Given the description of an element on the screen output the (x, y) to click on. 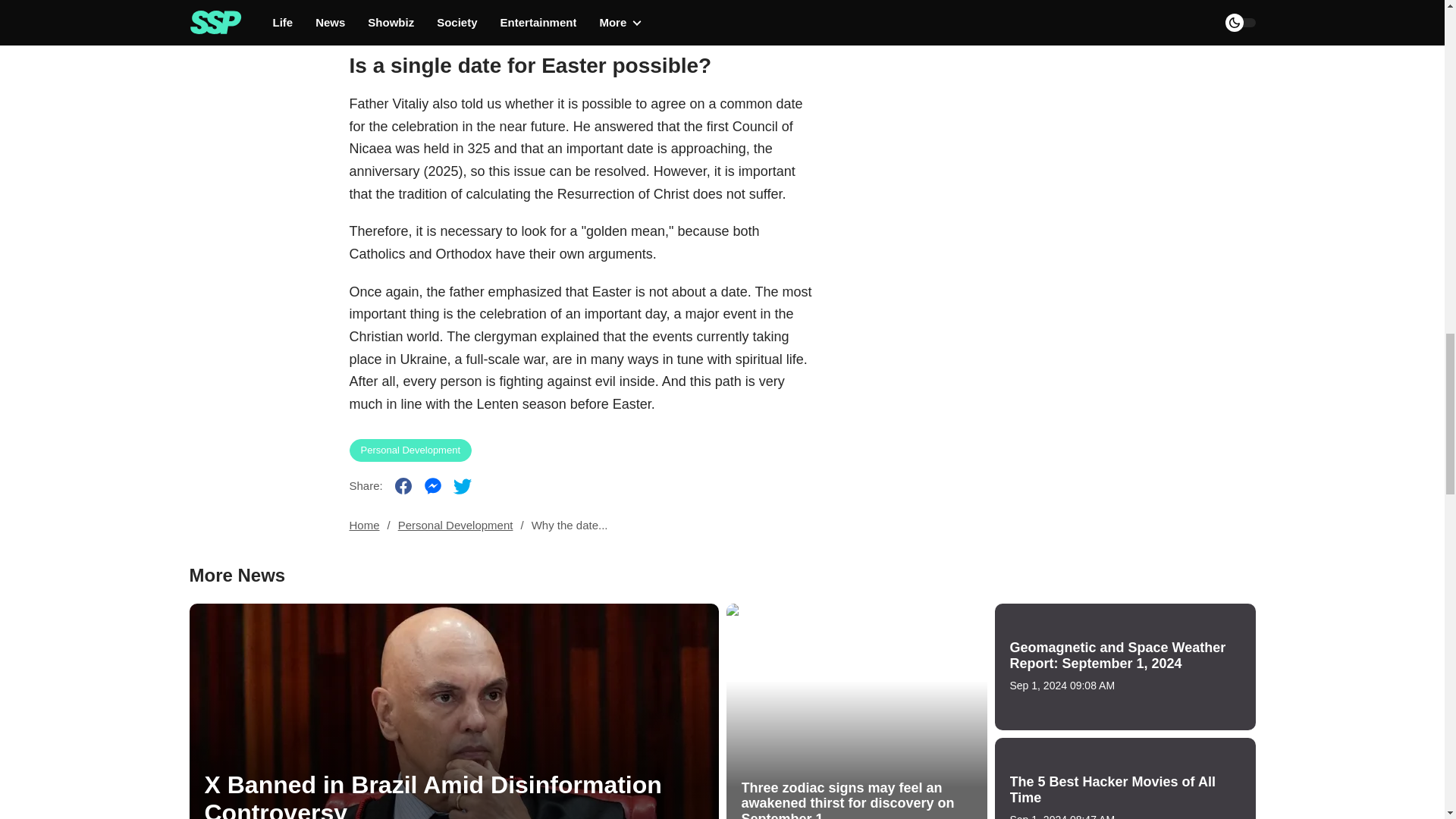
Personal Development (455, 525)
Home (363, 525)
Personal Development (410, 449)
